Given the description of an element on the screen output the (x, y) to click on. 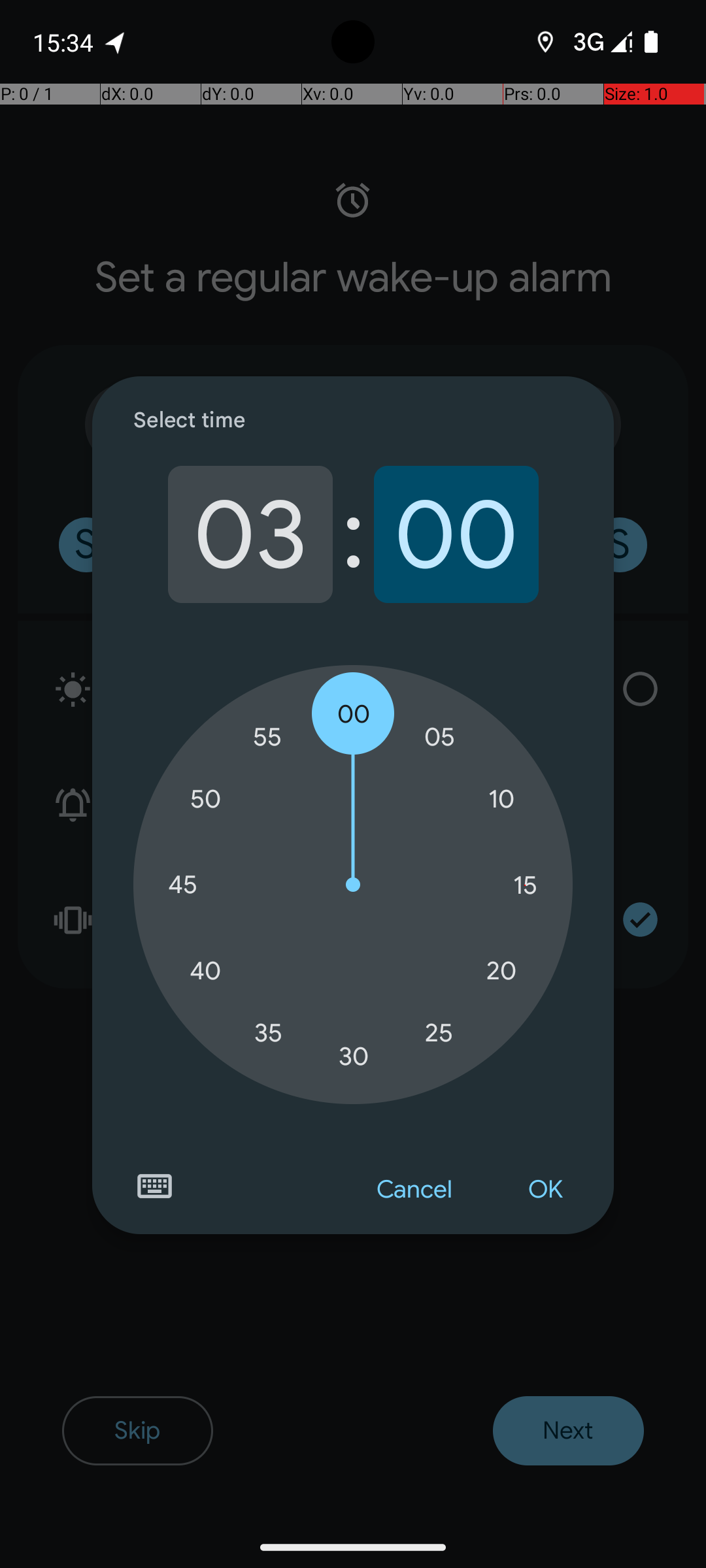
03 Element type: android.view.View (250, 534)
Switch to text input mode for the time input. Element type: android.widget.Button (154, 1186)
Cancel Element type: android.widget.Button (414, 1189)
OK Element type: android.widget.Button (545, 1189)
55 Element type: android.widget.TextView (267, 736)
50 Element type: android.widget.TextView (205, 798)
05 Element type: android.widget.TextView (439, 736)
10 Element type: android.widget.TextView (501, 798)
45 Element type: android.widget.TextView (182, 884)
15 Element type: android.widget.TextView (524, 885)
40 Element type: android.widget.TextView (205, 970)
35 Element type: android.widget.TextView (267, 1032)
30 Element type: android.widget.TextView (353, 1056)
25 Element type: android.widget.TextView (438, 1032)
20 Element type: android.widget.TextView (501, 970)
